Given the description of an element on the screen output the (x, y) to click on. 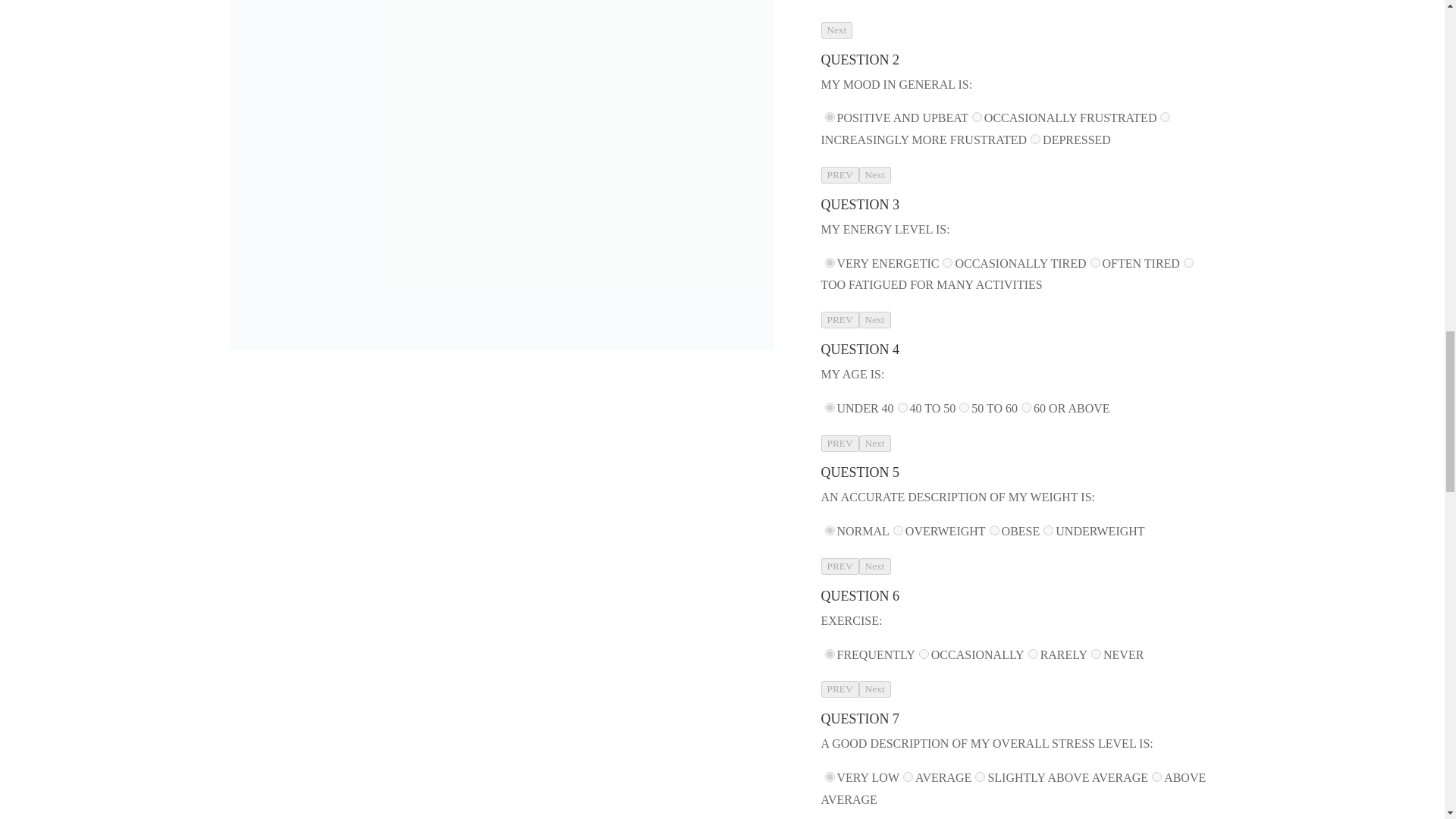
OBESE (994, 530)
UNDERWEIGHT (1047, 530)
TOO FATIGUED FOR MANY ACTIVITIES (1188, 262)
50 TO 60 (964, 407)
VERY ENERGETIC (829, 262)
60 OR ABOVE (1026, 407)
UNDER 40 (829, 407)
OCCASIONALLY TIRED (947, 262)
POSITIVE AND UPBEAT (829, 117)
OCCASIONALLY FRUSTRATED (976, 117)
OFTEN TIRED (1095, 262)
DEPRESSED (1035, 139)
40 TO 50 (902, 407)
INCREASINGLY MORE FRUSTRATED (1165, 117)
